Given the description of an element on the screen output the (x, y) to click on. 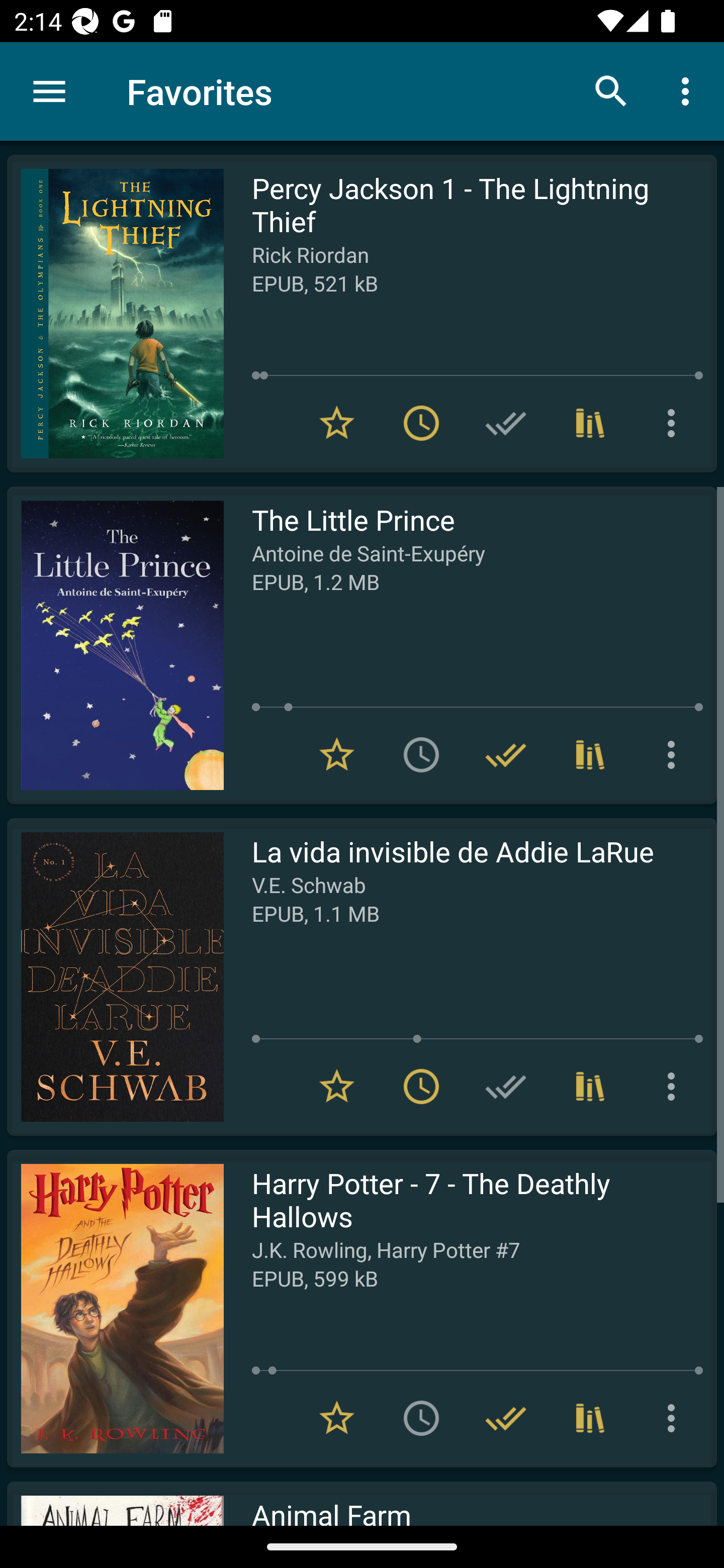
Menu (49, 91)
Search books & documents (611, 90)
More options (688, 90)
Read Percy Jackson 1 - The Lightning Thief (115, 313)
Remove from Favorites (336, 423)
Remove from To read (421, 423)
Add to Have read (505, 423)
Collections (1) (590, 423)
More options (674, 423)
Read The Little Prince (115, 645)
Remove from Favorites (336, 753)
Add to To read (421, 753)
Remove from Have read (505, 753)
Collections (1) (590, 753)
More options (674, 753)
Read La vida invisible de Addie LaRue (115, 976)
Remove from Favorites (336, 1086)
Remove from To read (421, 1086)
Add to Have read (505, 1086)
Collections (1) (590, 1086)
More options (674, 1086)
Read Harry Potter - 7 - The Deathly Hallows (115, 1308)
Remove from Favorites (336, 1417)
Add to To read (421, 1417)
Remove from Have read (505, 1417)
Collections (3) (590, 1417)
More options (674, 1417)
